Given the description of an element on the screen output the (x, y) to click on. 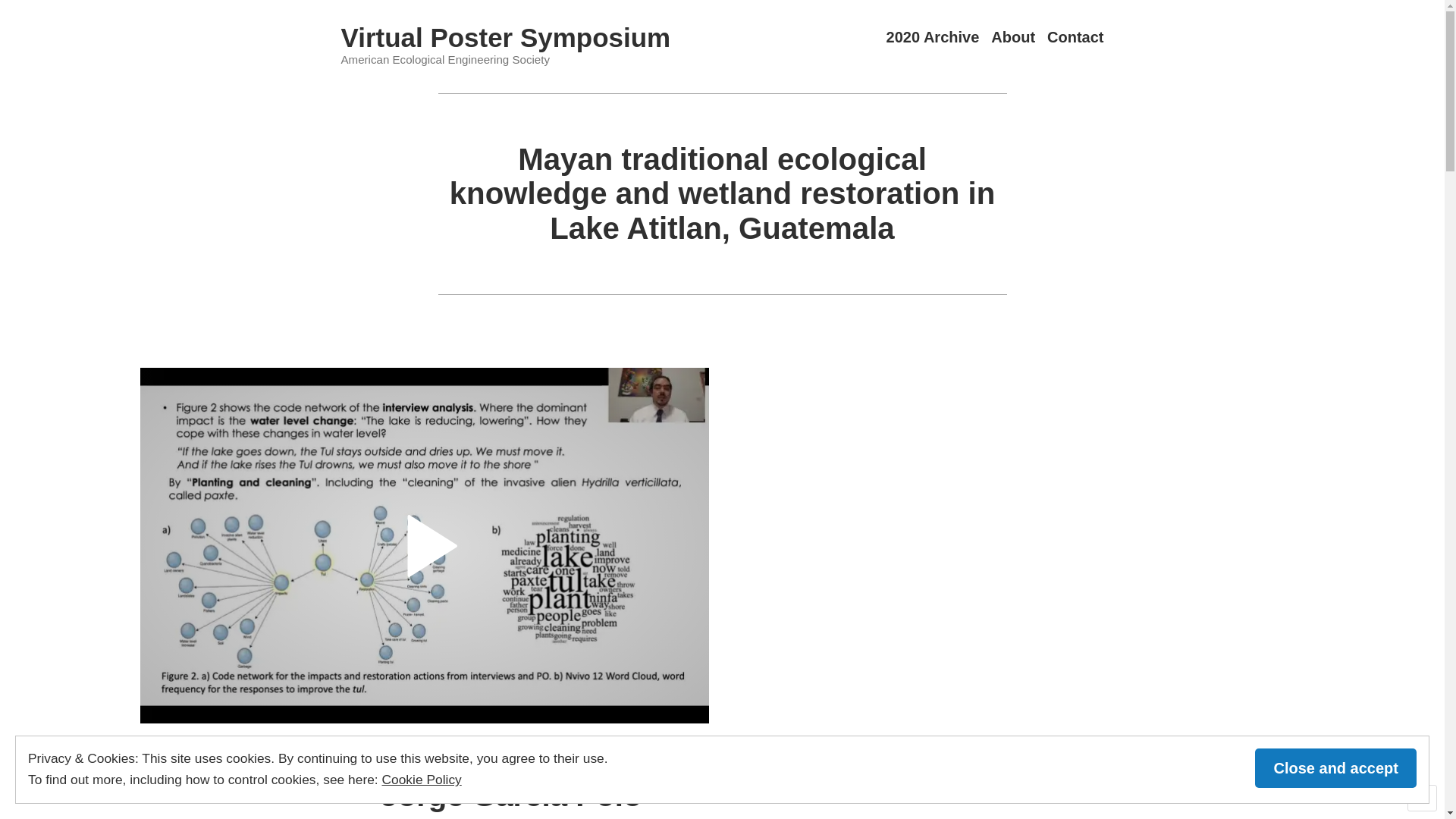
Cookie Policy Element type: text (421, 779)
Virtual Poster Symposium Element type: text (506, 37)
About Element type: text (1013, 37)
Close and accept Element type: text (1335, 767)
2020 Archive Element type: text (932, 37)
Contact Element type: text (1075, 37)
VideoPress Video Player Element type: hover (424, 545)
